Given the description of an element on the screen output the (x, y) to click on. 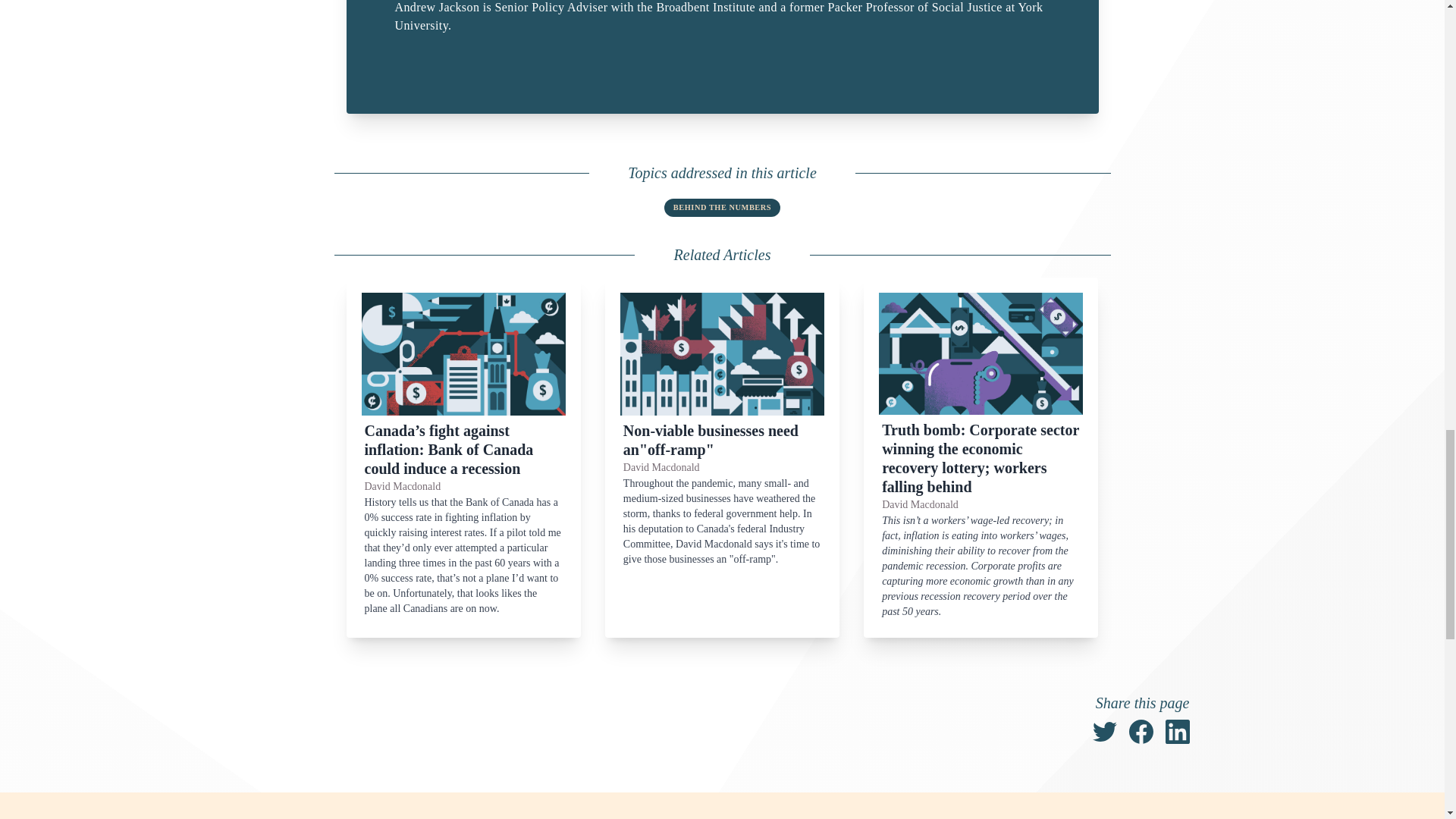
Share on Facebook (1140, 731)
Tweet (1104, 731)
Share on LinkedIn (1176, 731)
